Given the description of an element on the screen output the (x, y) to click on. 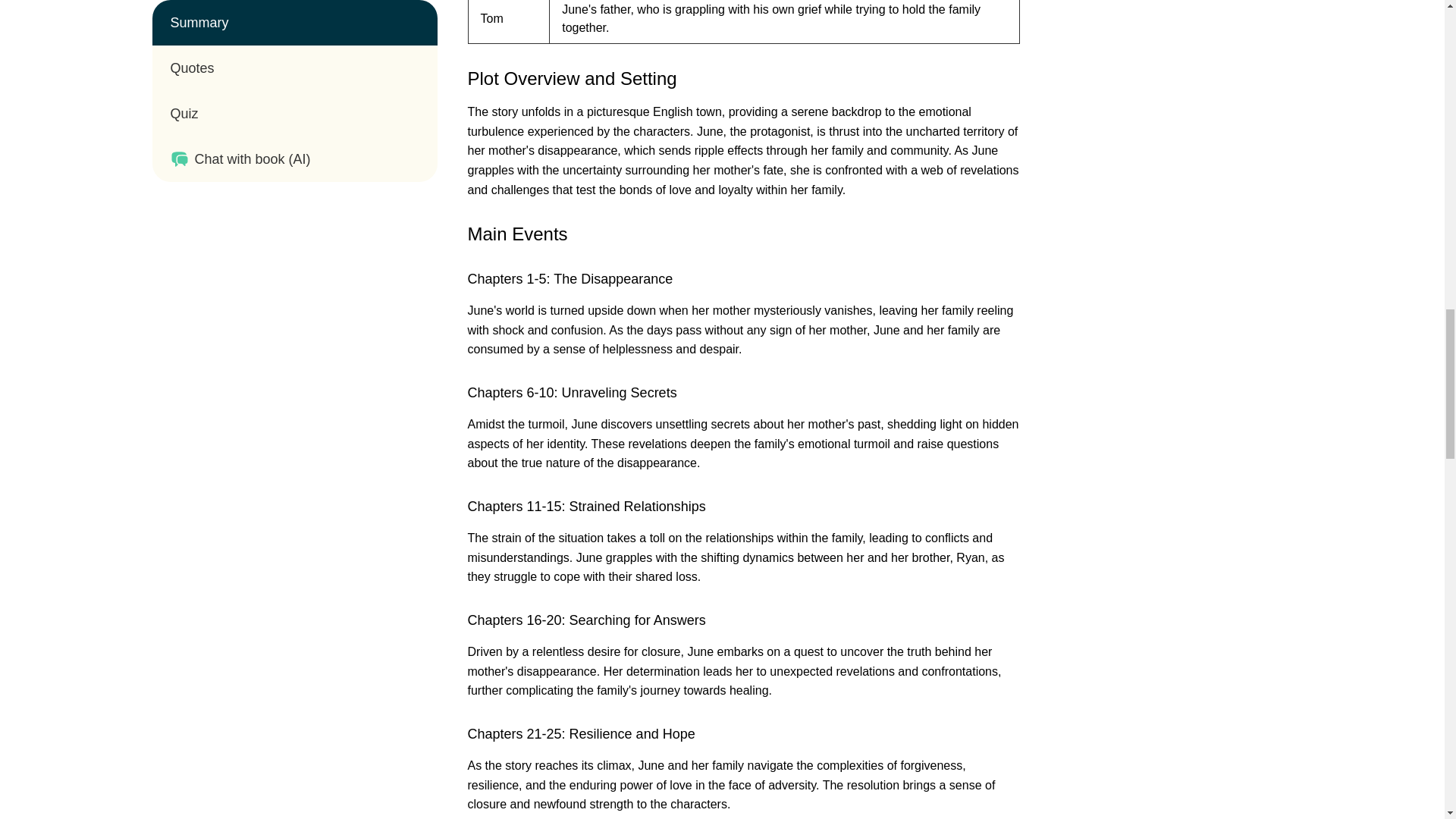
Chapters 21-25: Resilience and Hope (580, 734)
Chapters 11-15: Strained Relationships (585, 506)
Plot Overview and Setting (572, 77)
Chapters 16-20: Searching for Answers (585, 620)
Chapters 6-10: Unraveling Secrets (572, 392)
Chapters 1-5: The Disappearance (569, 278)
Main Events (517, 233)
